Given the description of an element on the screen output the (x, y) to click on. 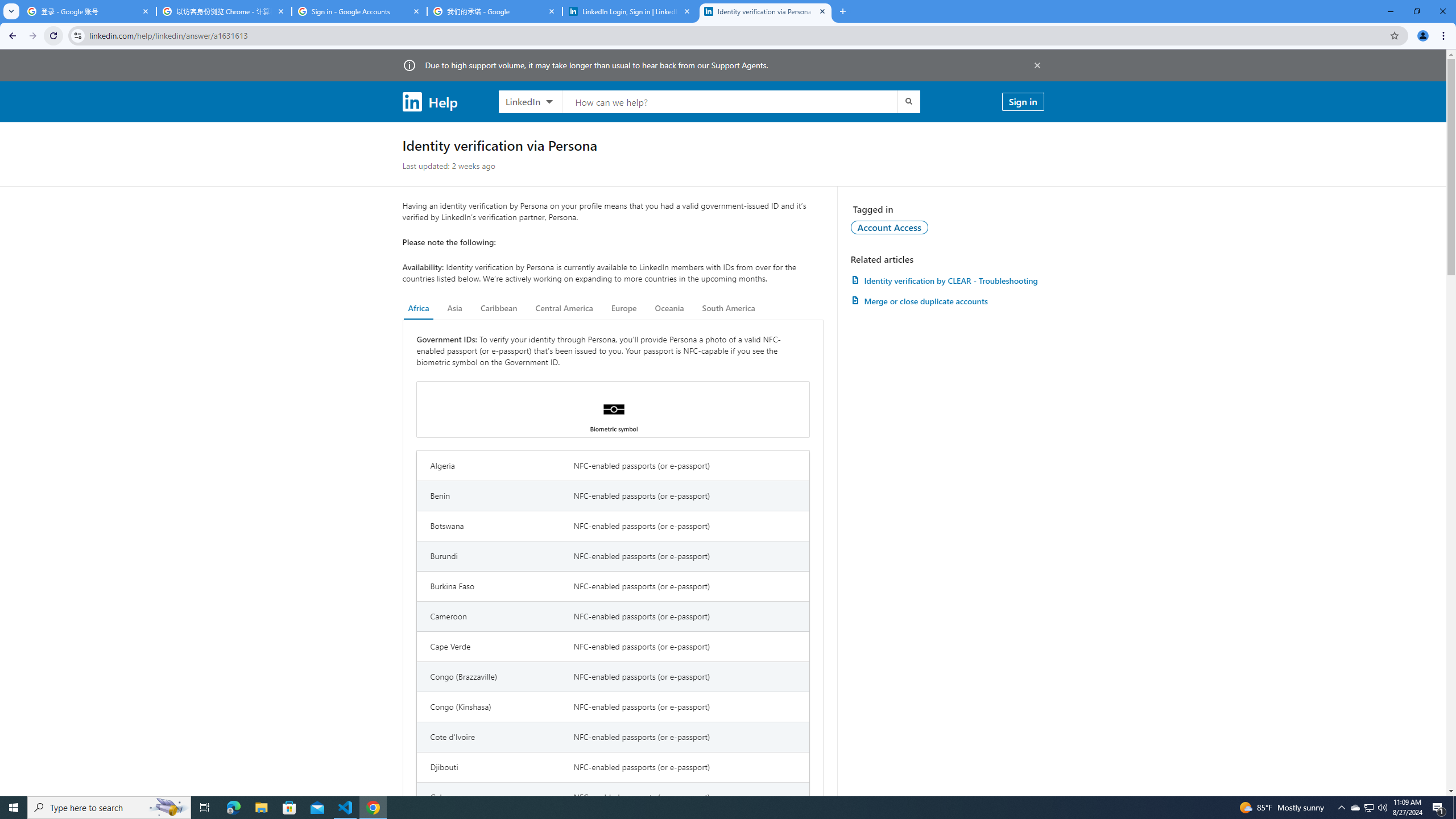
Merge or close duplicate accounts (946, 300)
AutomationID: article-link-a1457505 (946, 280)
Submit search (908, 101)
AutomationID: article-link-a1337200 (946, 300)
Europe (623, 308)
Identity verification via Persona | LinkedIn Help (765, 11)
Central America (563, 308)
